Given the description of an element on the screen output the (x, y) to click on. 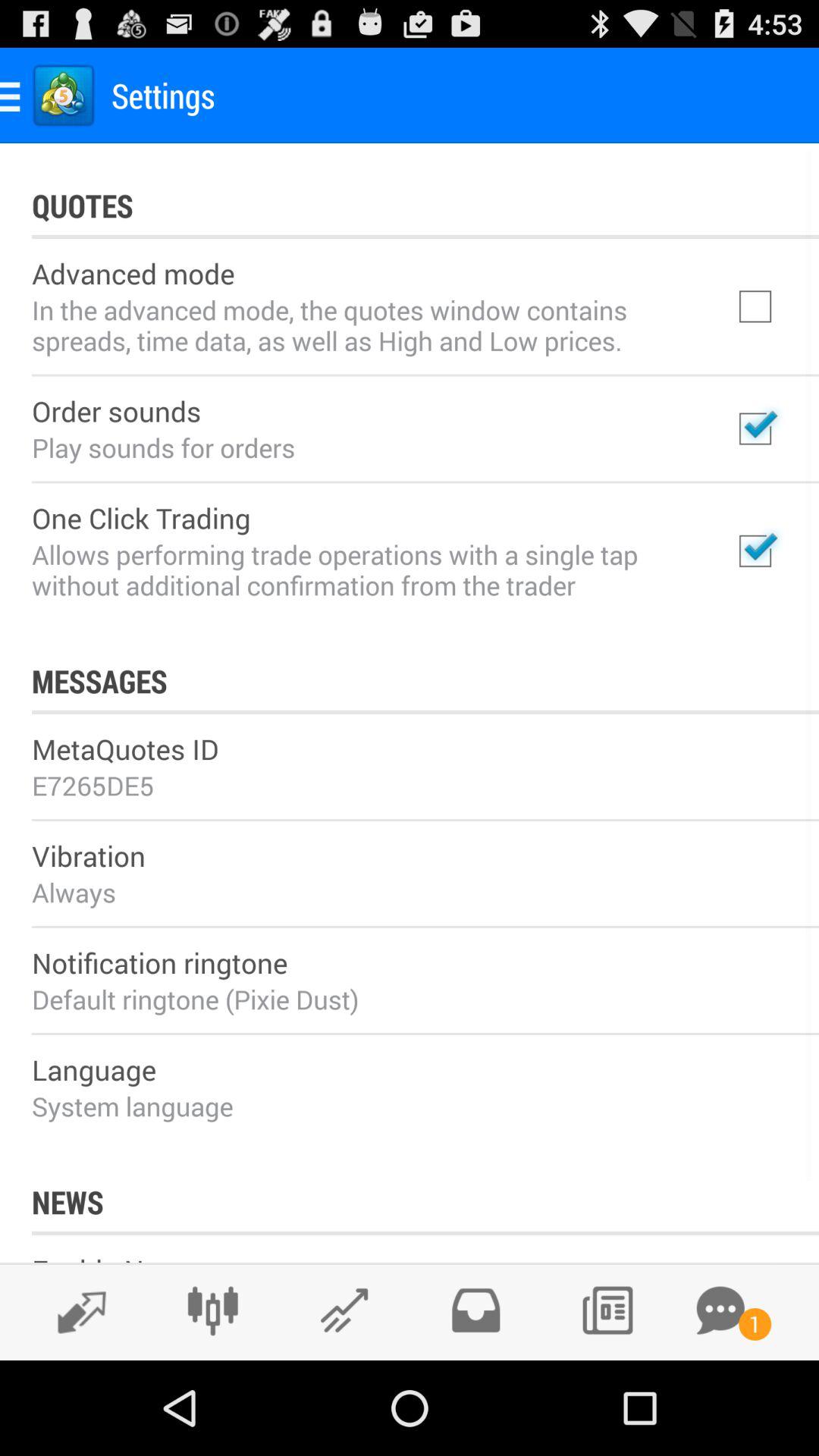
messaging (720, 1310)
